Given the description of an element on the screen output the (x, y) to click on. 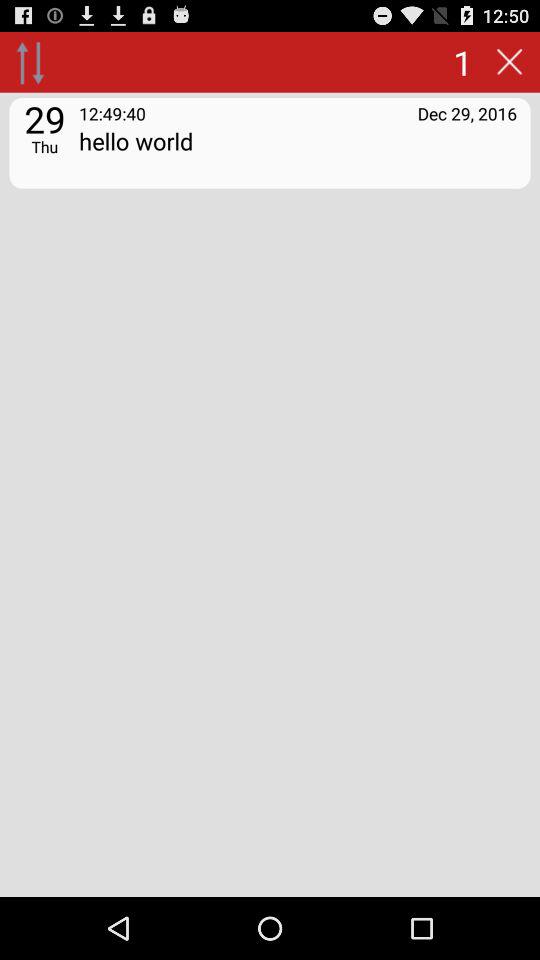
scroll until the hello world icon (298, 154)
